Given the description of an element on the screen output the (x, y) to click on. 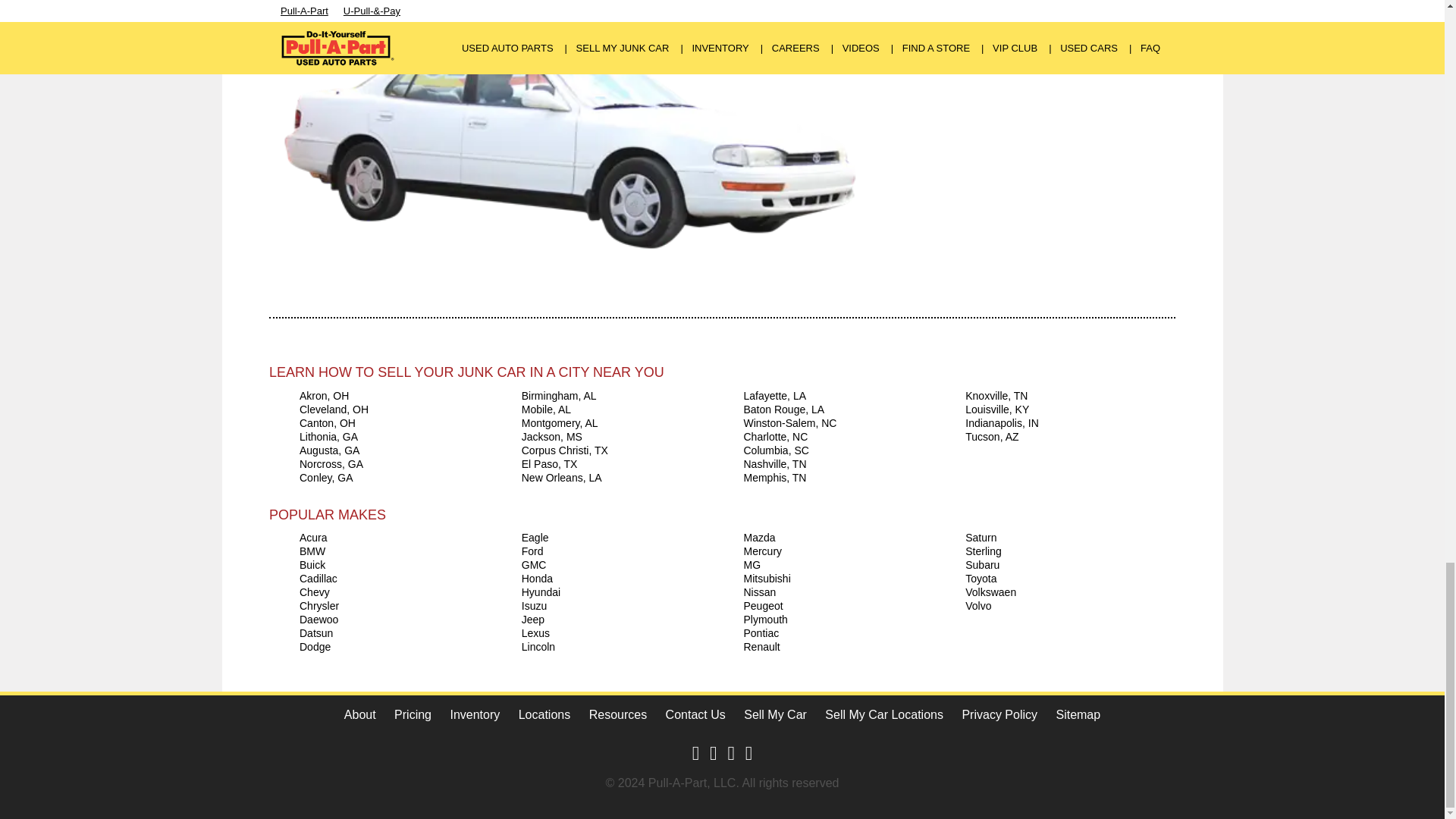
Locations (544, 714)
Pricing (412, 714)
Sitemap (1077, 714)
Privacy Policy (998, 714)
Contact Us (695, 714)
Sell My Car (775, 714)
Resources (617, 714)
About (359, 714)
Inventory (474, 714)
Sell My Car Locations (884, 714)
